Given the description of an element on the screen output the (x, y) to click on. 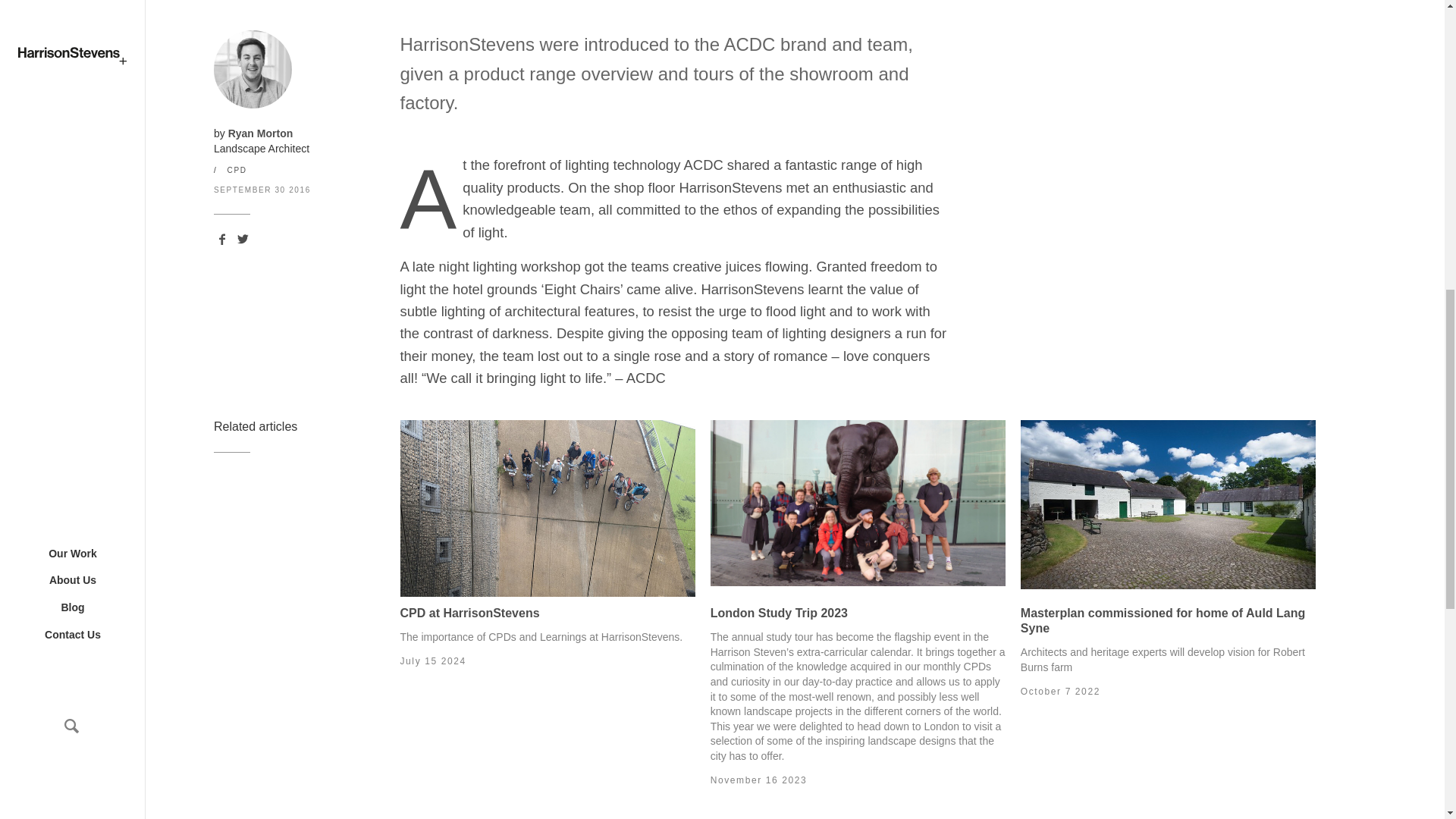
CPD (237, 170)
Share on Facebook (222, 238)
Terms and Conditions (1271, 19)
Ryan Morton (261, 133)
Share on Twitter (242, 238)
Posts by Ryan Morton (261, 133)
